Given the description of an element on the screen output the (x, y) to click on. 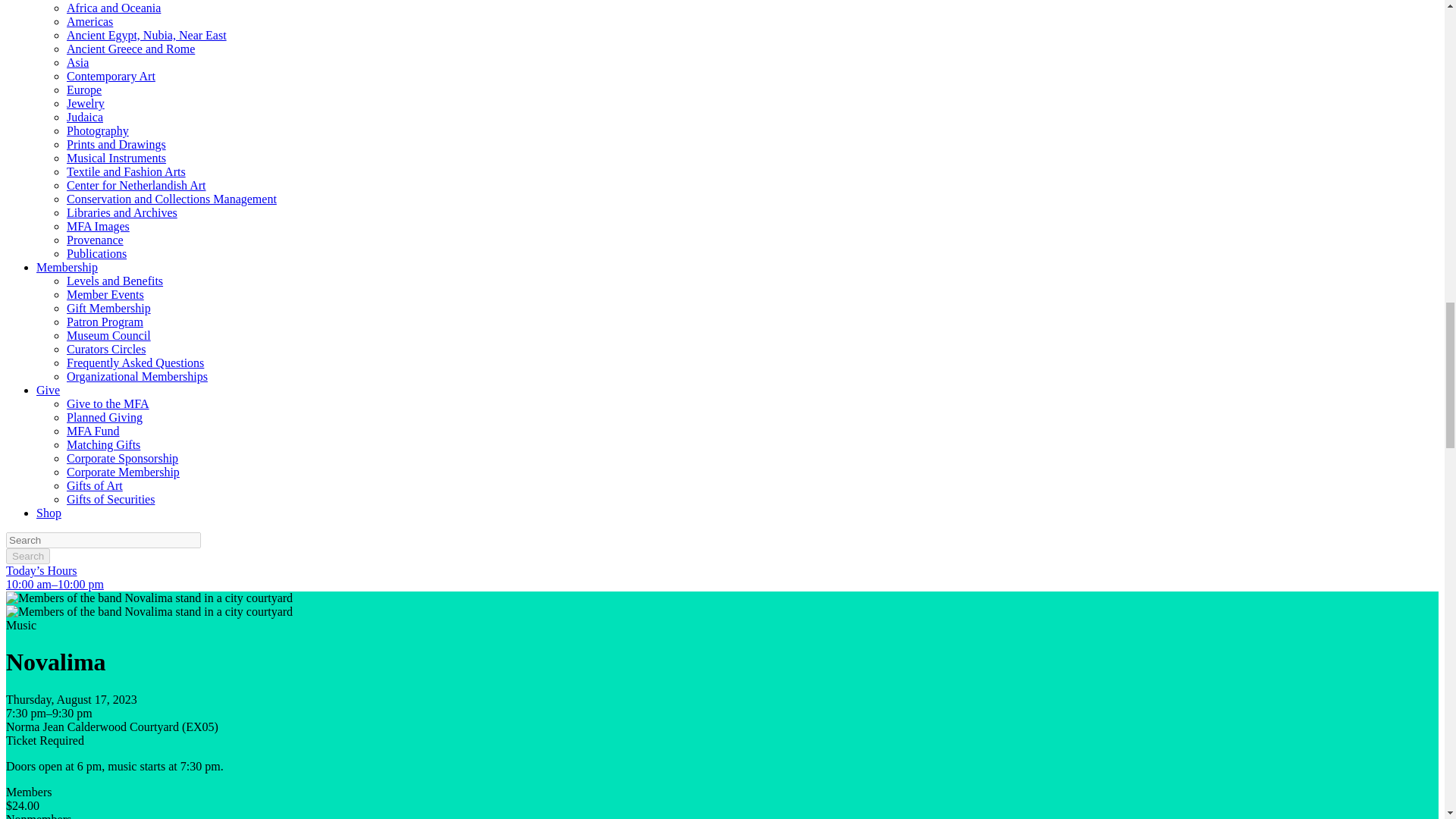
Search (27, 555)
Expand menu Membership (66, 267)
Expand menu Give (47, 390)
